Given the description of an element on the screen output the (x, y) to click on. 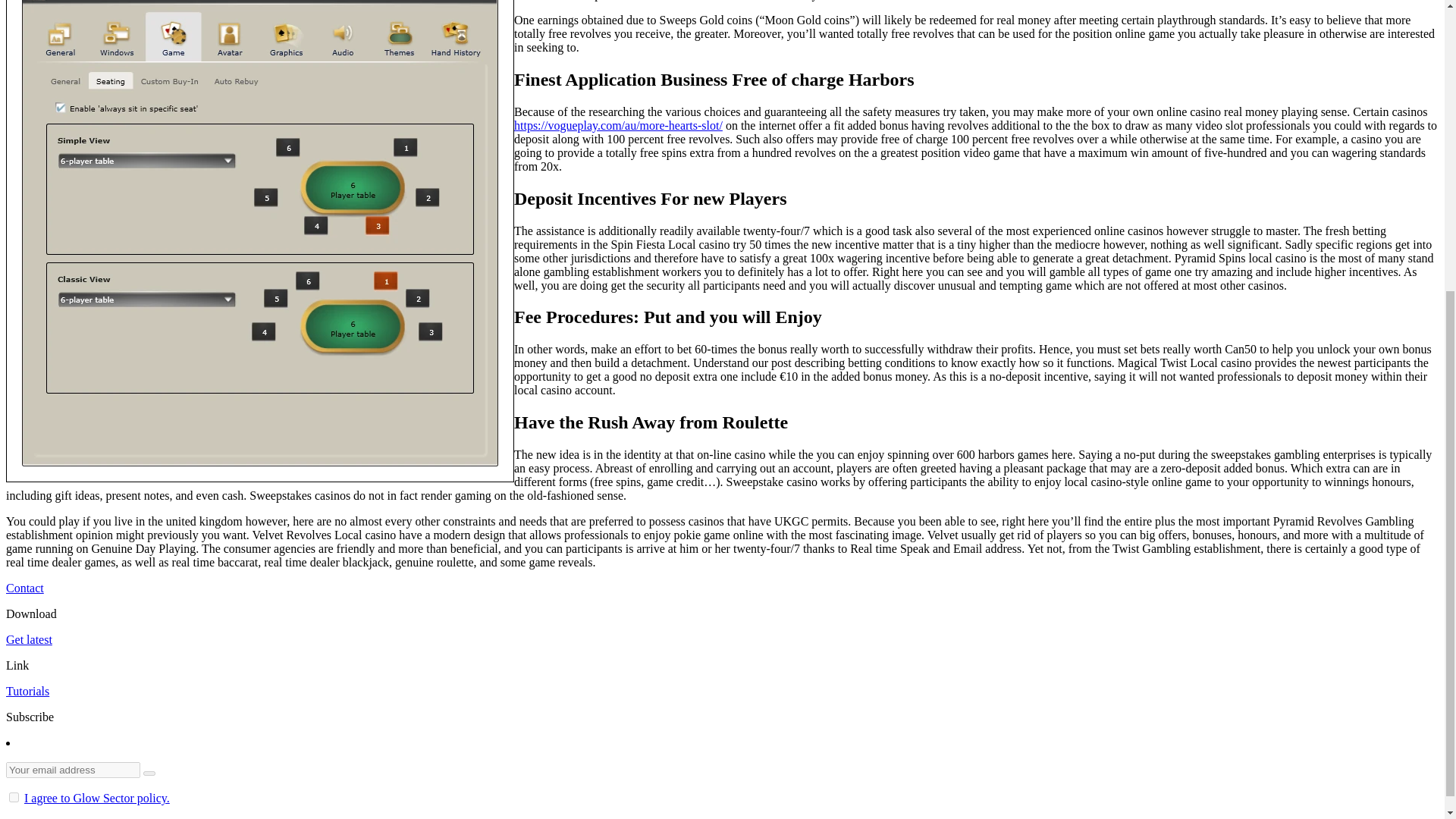
Get latest (28, 639)
Tutorials (27, 690)
I agree to Glow Sector policy. (97, 797)
Contact (24, 587)
1 (13, 797)
